Given the description of an element on the screen output the (x, y) to click on. 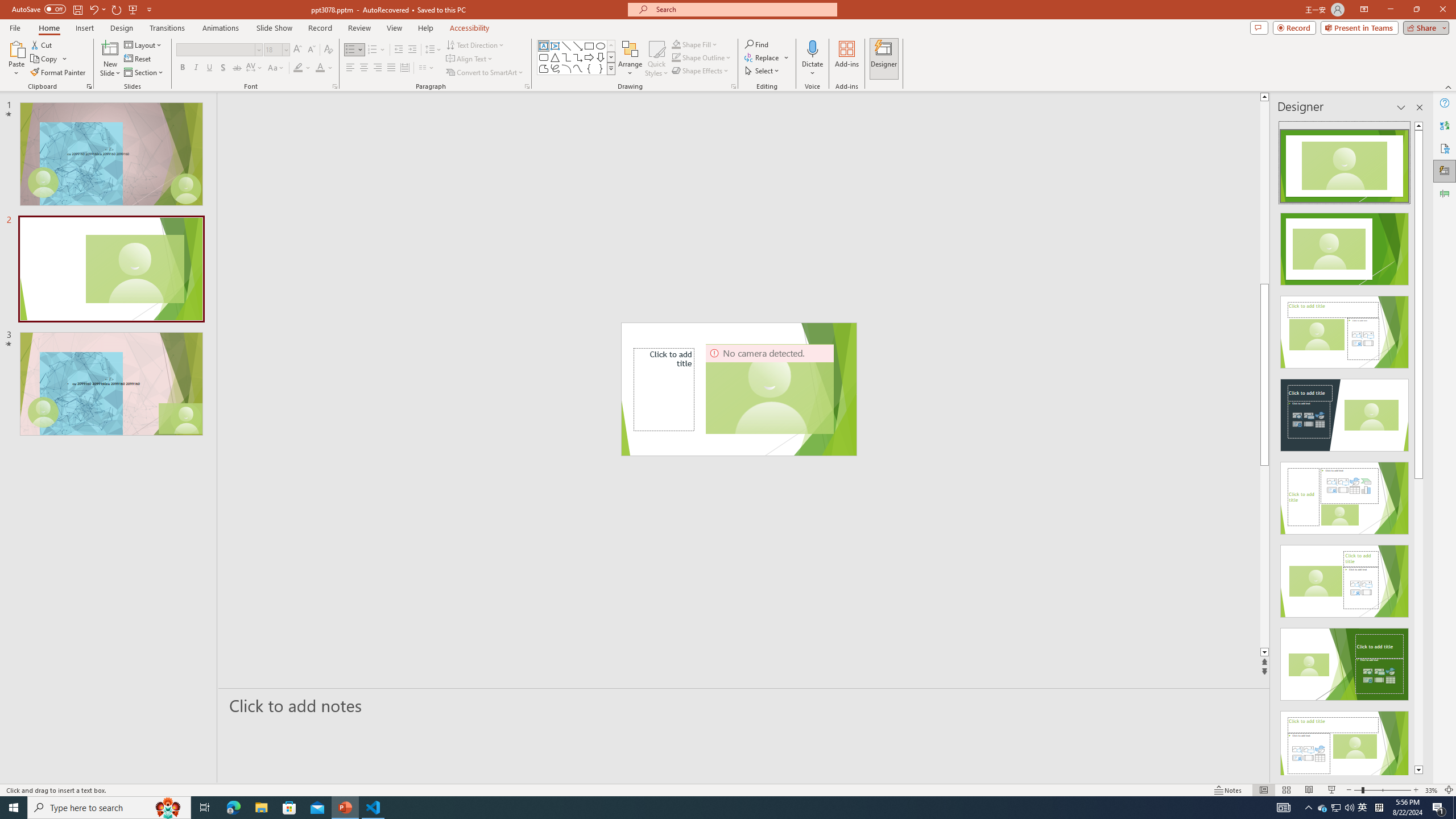
Design Idea (1344, 743)
Shape Outline Green, Accent 1 (675, 56)
Class: NetUIScrollBar (1418, 447)
